Given the description of an element on the screen output the (x, y) to click on. 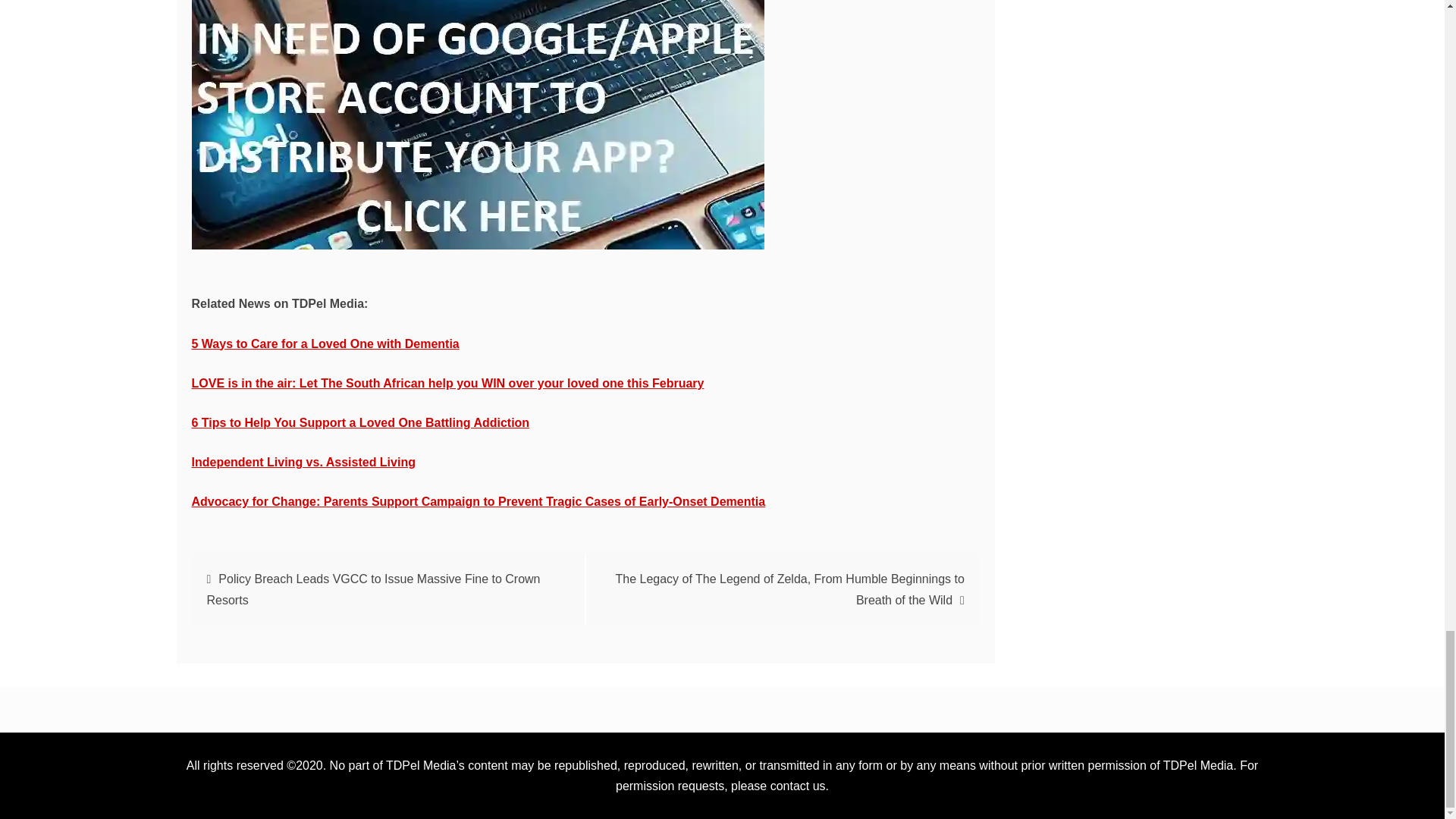
6 Tips to Help You Support a Loved One Battling Addiction (359, 422)
5 Ways to Care for a Loved One with Dementia (324, 343)
Independent Living vs. Assisted Living (302, 461)
